Given the description of an element on the screen output the (x, y) to click on. 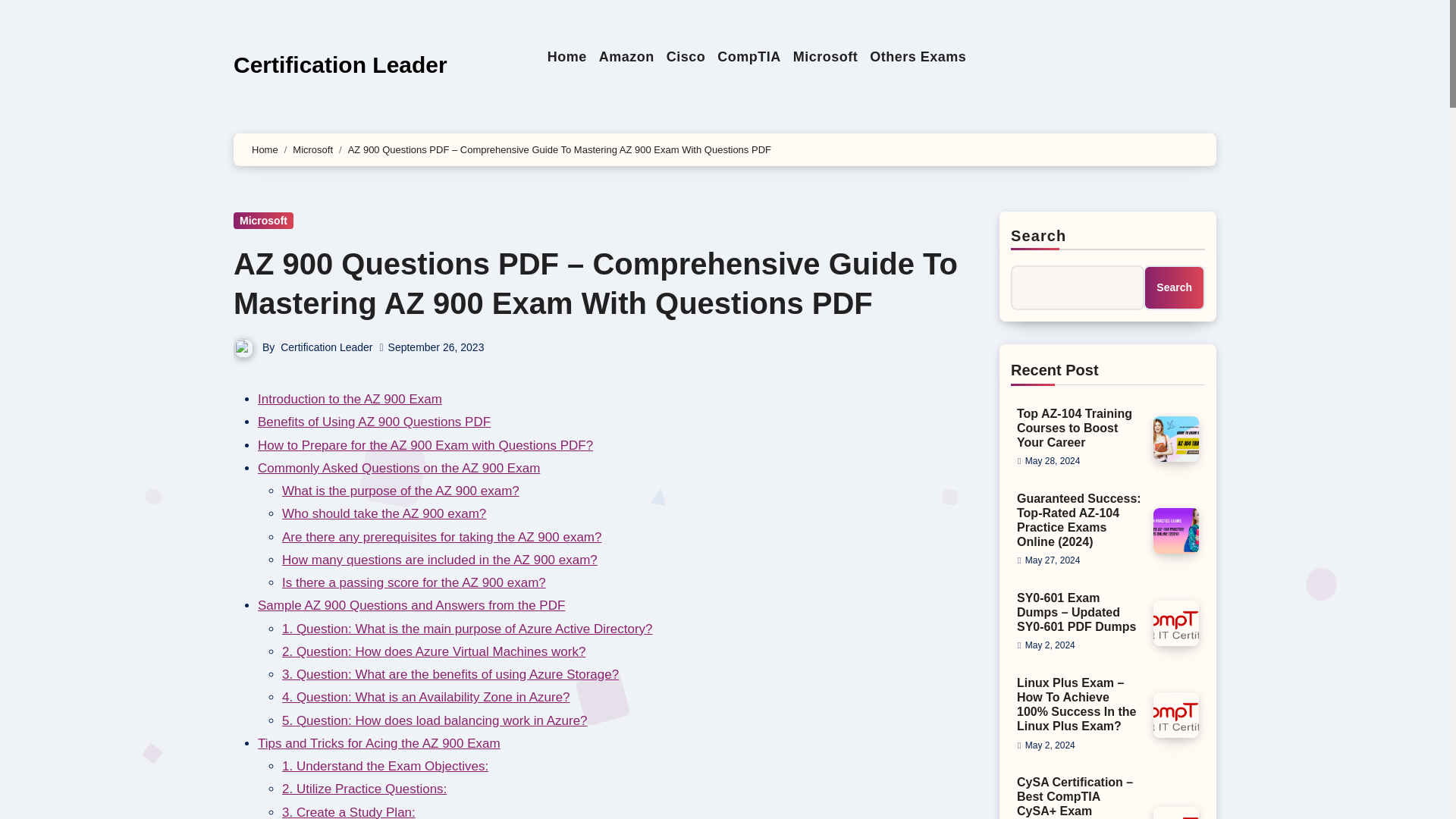
2. Utilize Practice Questions: (364, 789)
How many questions are included in the AZ 900 exam? (439, 559)
Are there any prerequisites for taking the AZ 900 exam? (441, 536)
Home (566, 57)
Introduction to the AZ 900 Exam (349, 399)
CompTIA (749, 57)
Microsoft (312, 149)
3. Question: What are the benefits of using Azure Storage? (450, 674)
Microsoft (825, 57)
